Given the description of an element on the screen output the (x, y) to click on. 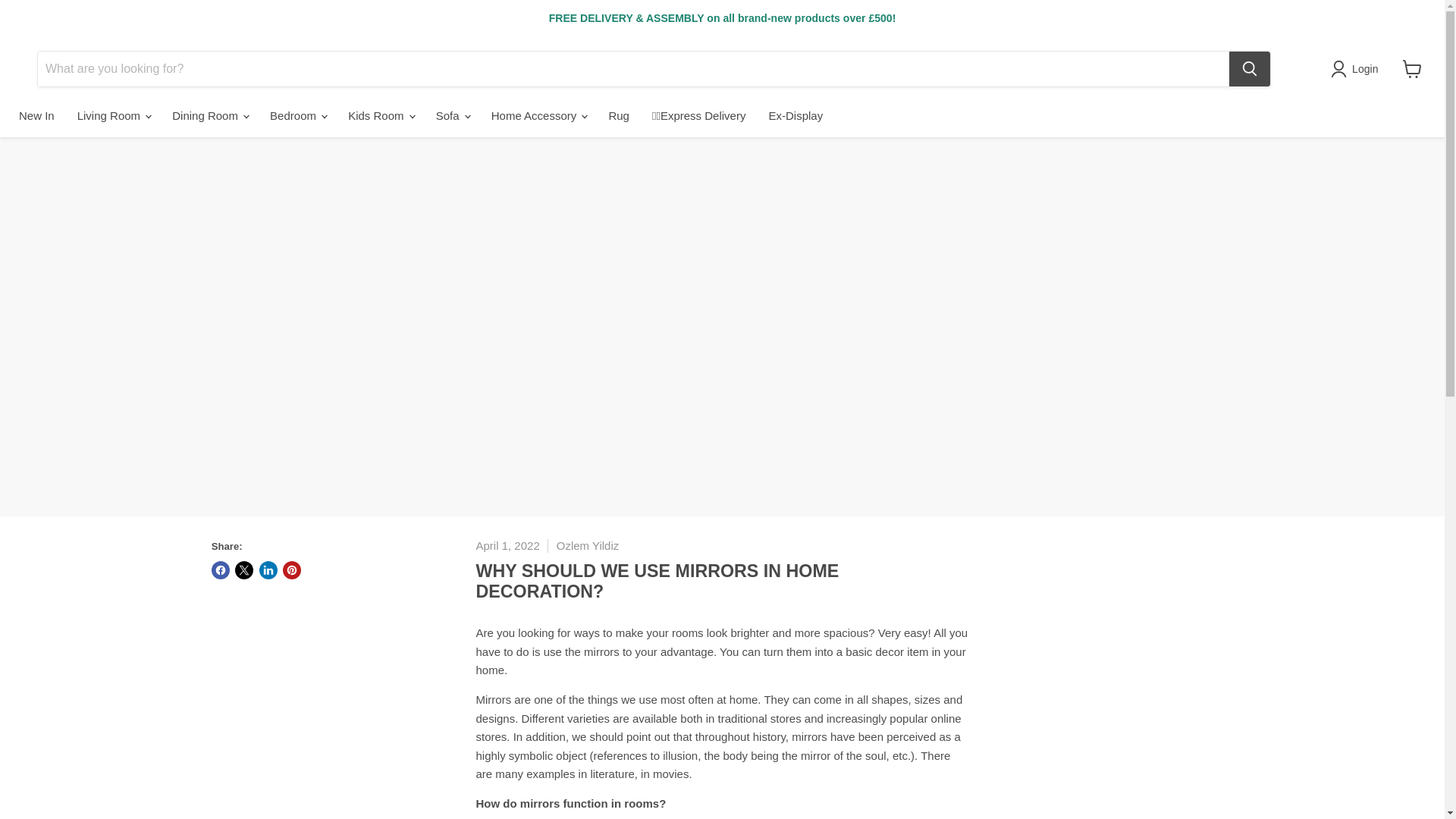
New In (36, 115)
View cart (1411, 68)
Login (1357, 68)
